Given the description of an element on the screen output the (x, y) to click on. 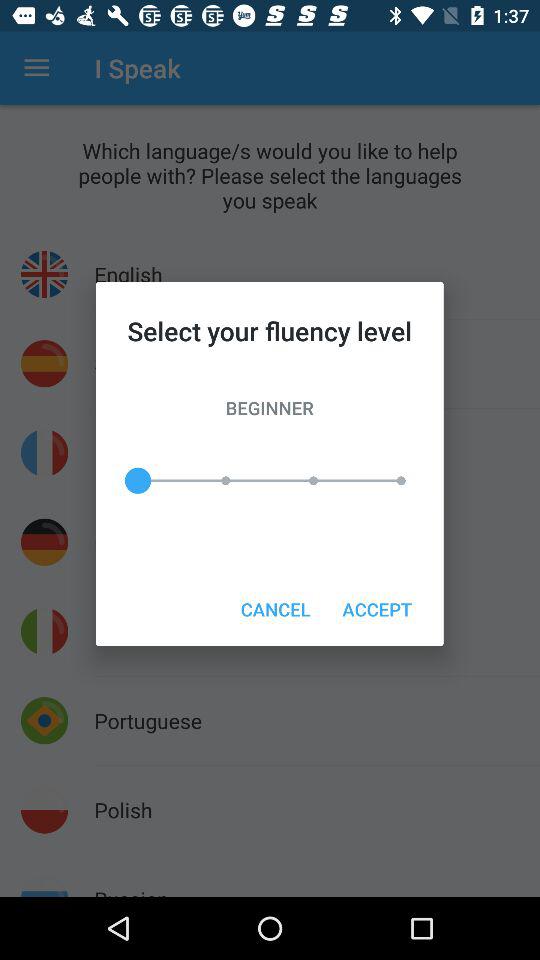
tap cancel (275, 608)
